Given the description of an element on the screen output the (x, y) to click on. 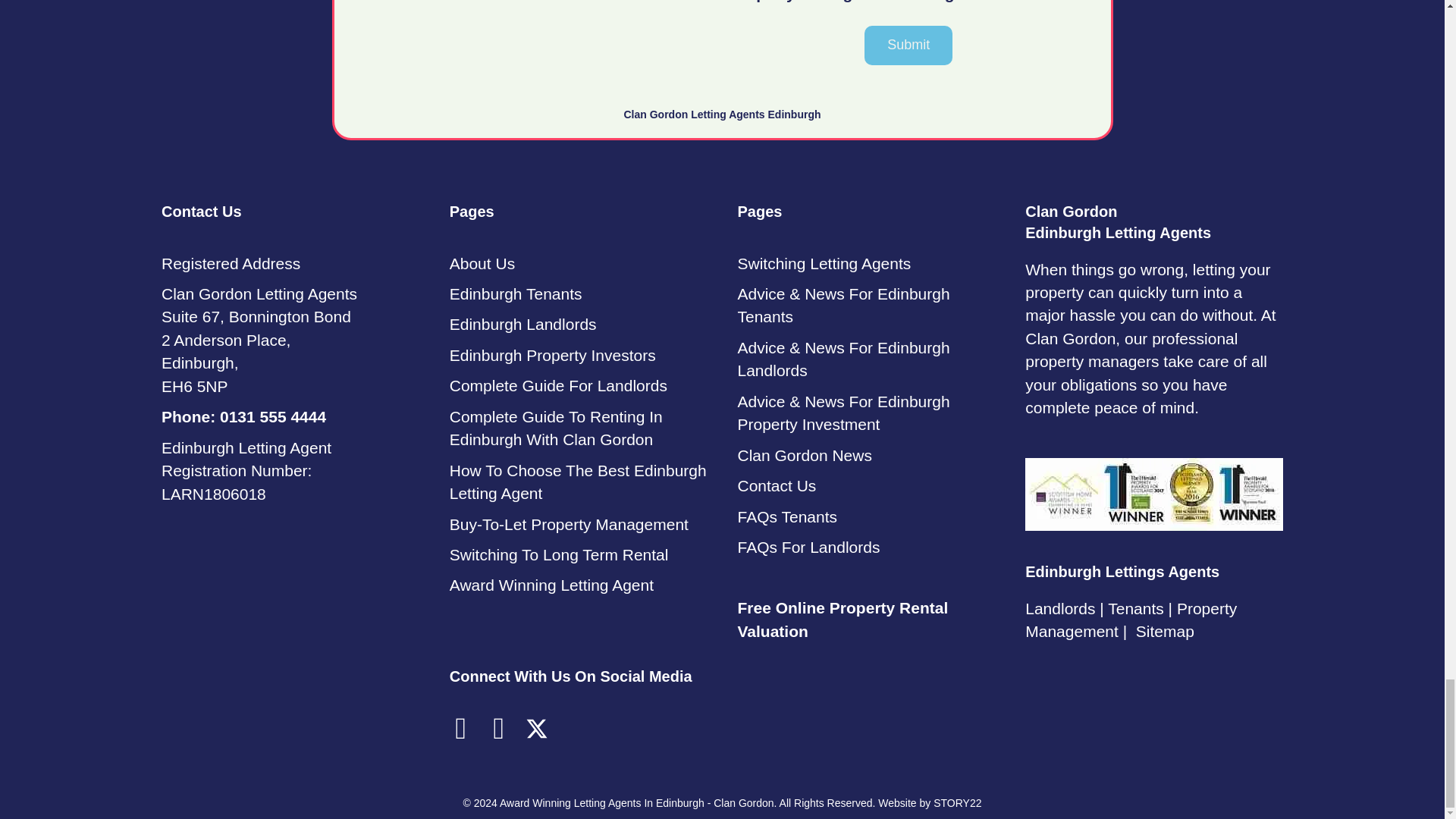
Switching Letting Agents (823, 262)
How To Choose The Best Edinburgh Letting Agent  (577, 481)
Submit (908, 45)
About Us (482, 262)
Edinburgh Tenants (515, 293)
Clan Gordon News (803, 455)
Switching To Long Term Rental (558, 554)
Free Online Property Rental Valuation  (841, 618)
Complete Guide For Landlords (557, 384)
FAQs Tenants (786, 516)
